Given the description of an element on the screen output the (x, y) to click on. 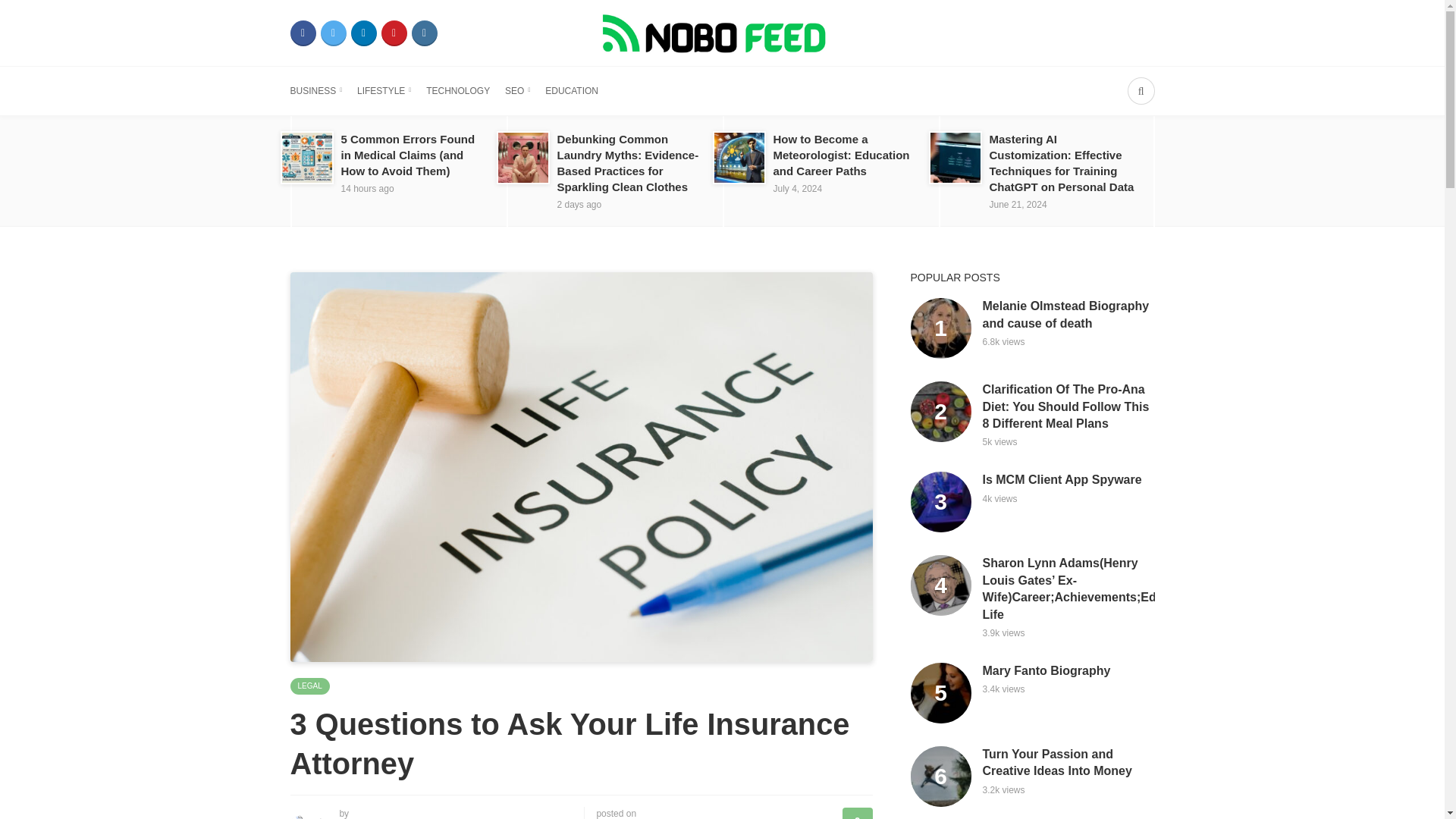
LIFESTYLE (383, 90)
facebook (302, 32)
July 25, 2024 (578, 204)
Nobofeed (721, 32)
Linkedin (362, 32)
Instagram (423, 32)
twitter (333, 32)
TECHNOLOGY (457, 90)
BUSINESS (315, 90)
July 4, 2024 (797, 188)
EDUCATION (571, 90)
June 21, 2024 (1017, 204)
July 26, 2024 (367, 188)
View all posts in Legal (309, 686)
